Given the description of an element on the screen output the (x, y) to click on. 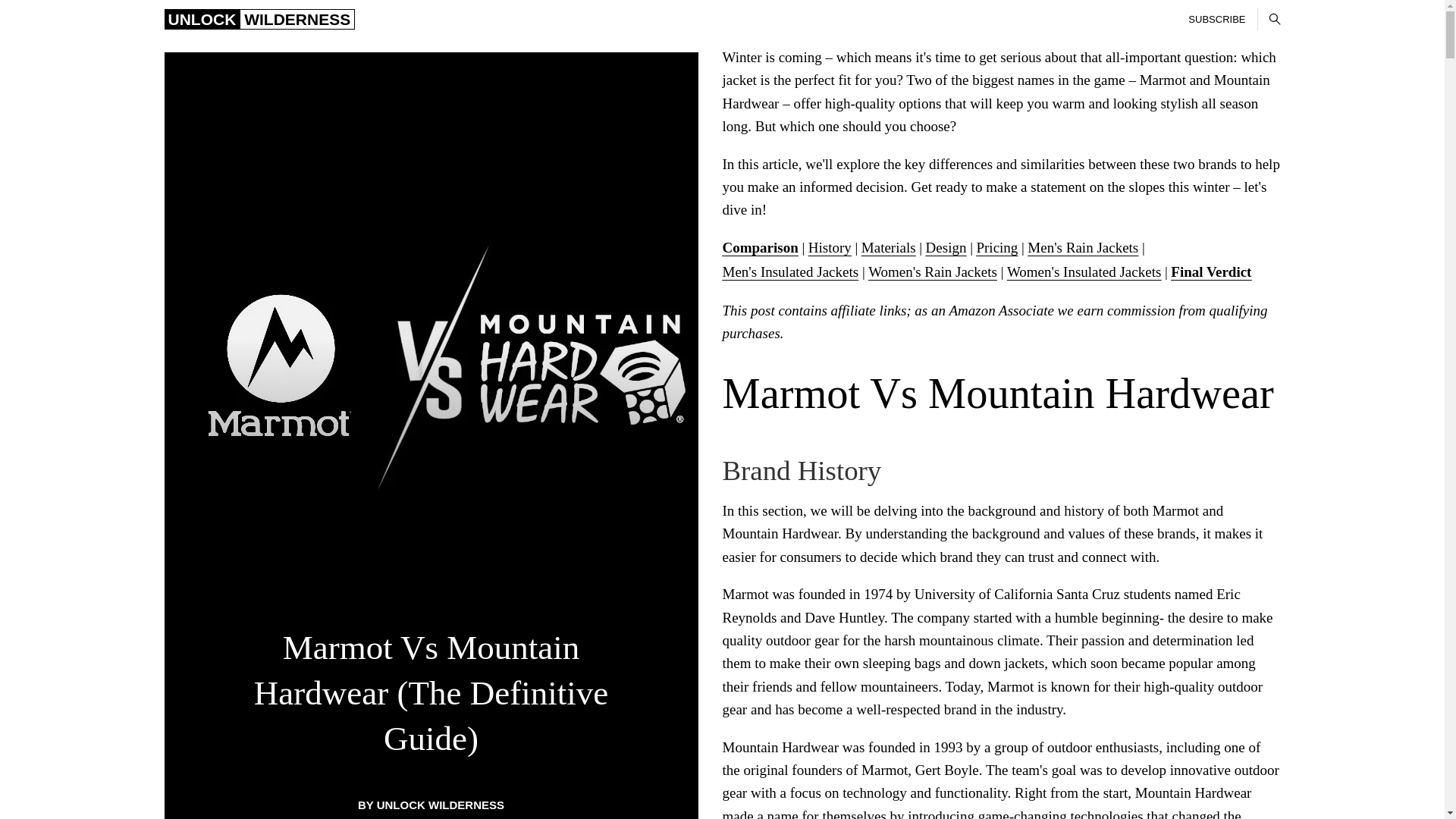
SUBSCRIBE (1216, 18)
UNLOCK WILDERNESS (259, 19)
Final Verdict (1210, 271)
Women's Insulated Jackets (1083, 271)
Comparison (759, 247)
Men's Rain Jackets (1082, 247)
History (829, 247)
Pricing (996, 247)
Materials (888, 247)
Design (946, 247)
